Given the description of an element on the screen output the (x, y) to click on. 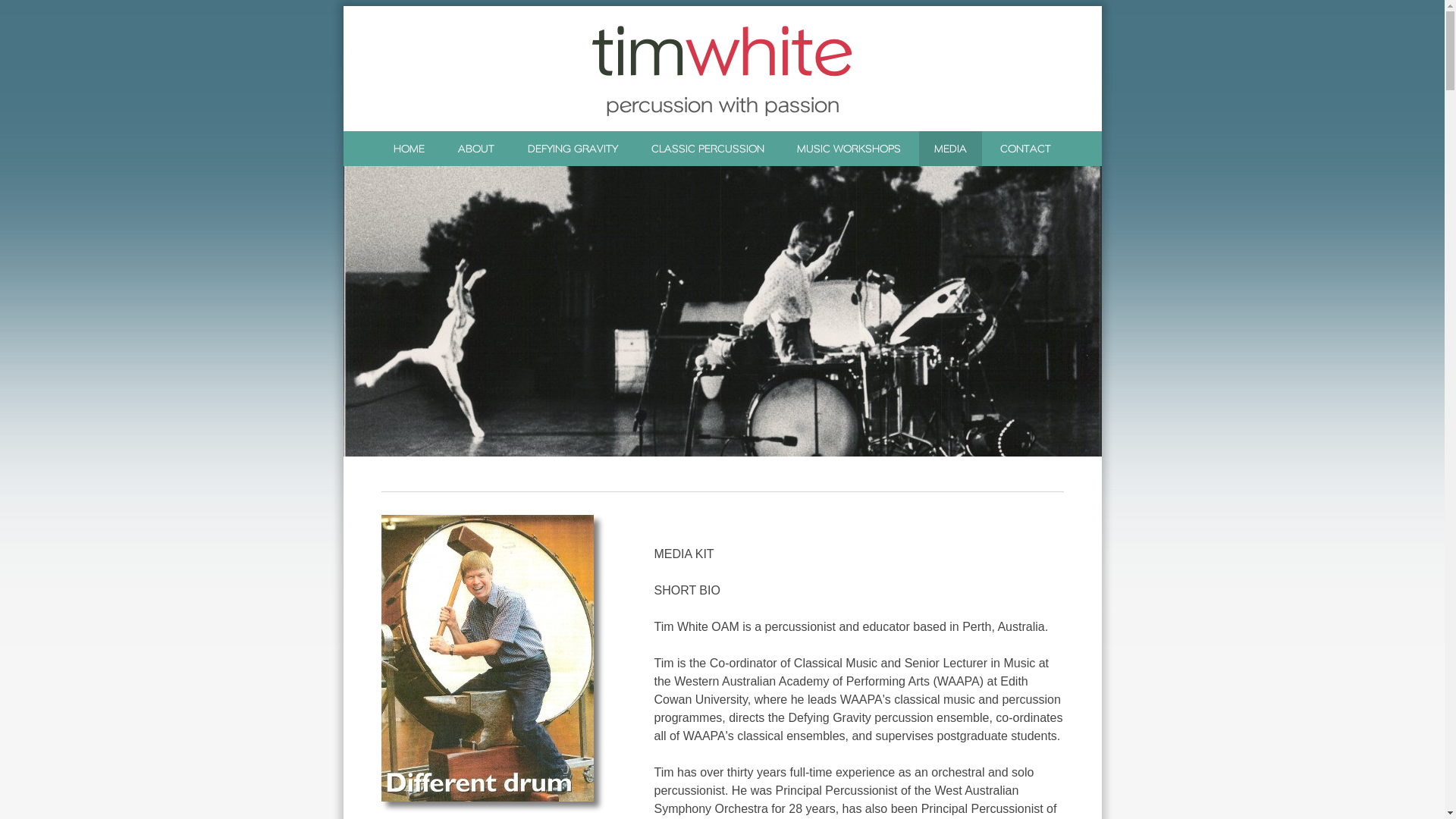
ABOUT Element type: text (475, 148)
MEDIA Element type: text (950, 148)
HOME Element type: text (408, 148)
CLASSIC PERCUSSION Element type: text (706, 148)
CONTACT Element type: text (1025, 148)
DEFYING GRAVITY Element type: text (572, 148)
MUSIC WORKSHOPS Element type: text (848, 148)
